Given the description of an element on the screen output the (x, y) to click on. 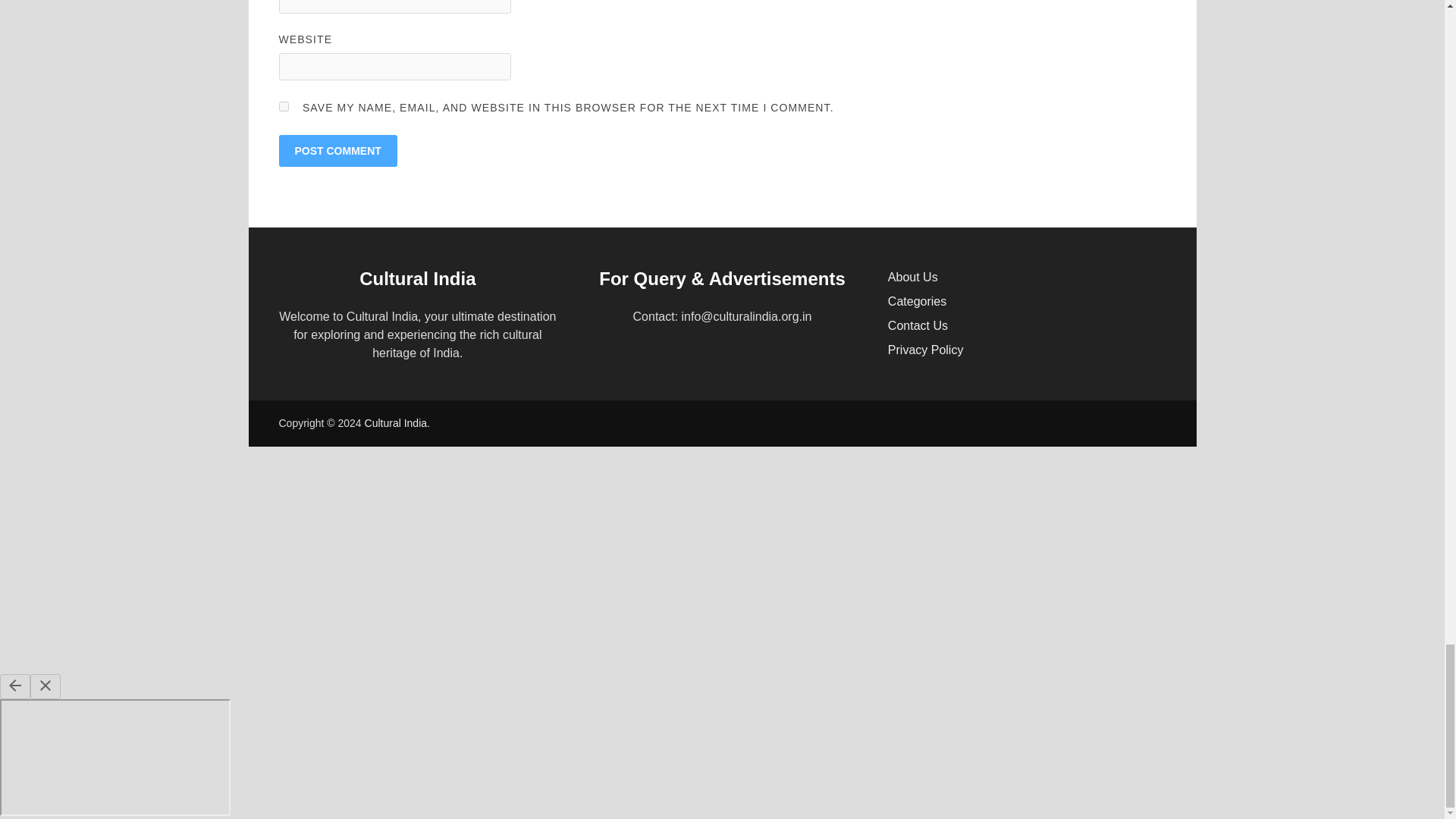
Post Comment (338, 151)
yes (283, 106)
